Given the description of an element on the screen output the (x, y) to click on. 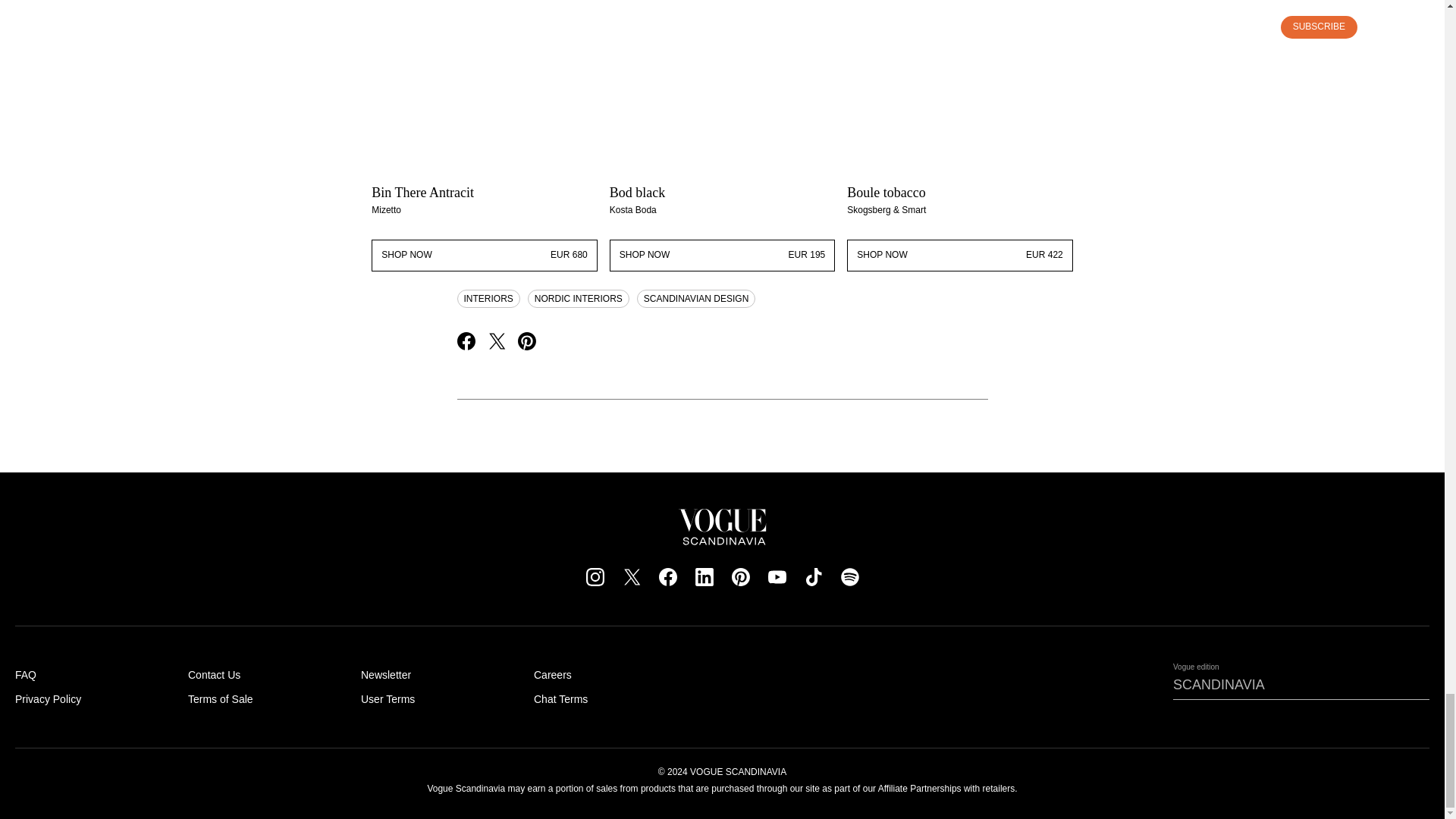
Newsletter (385, 674)
INTERIORS (488, 298)
Contact Us (213, 674)
Terms of Sale (220, 698)
NORDIC INTERIORS (483, 255)
SCANDINAVIAN DESIGN (577, 298)
Privacy Policy (696, 298)
User Terms (960, 255)
Careers (47, 698)
FAQ (722, 255)
